Given the description of an element on the screen output the (x, y) to click on. 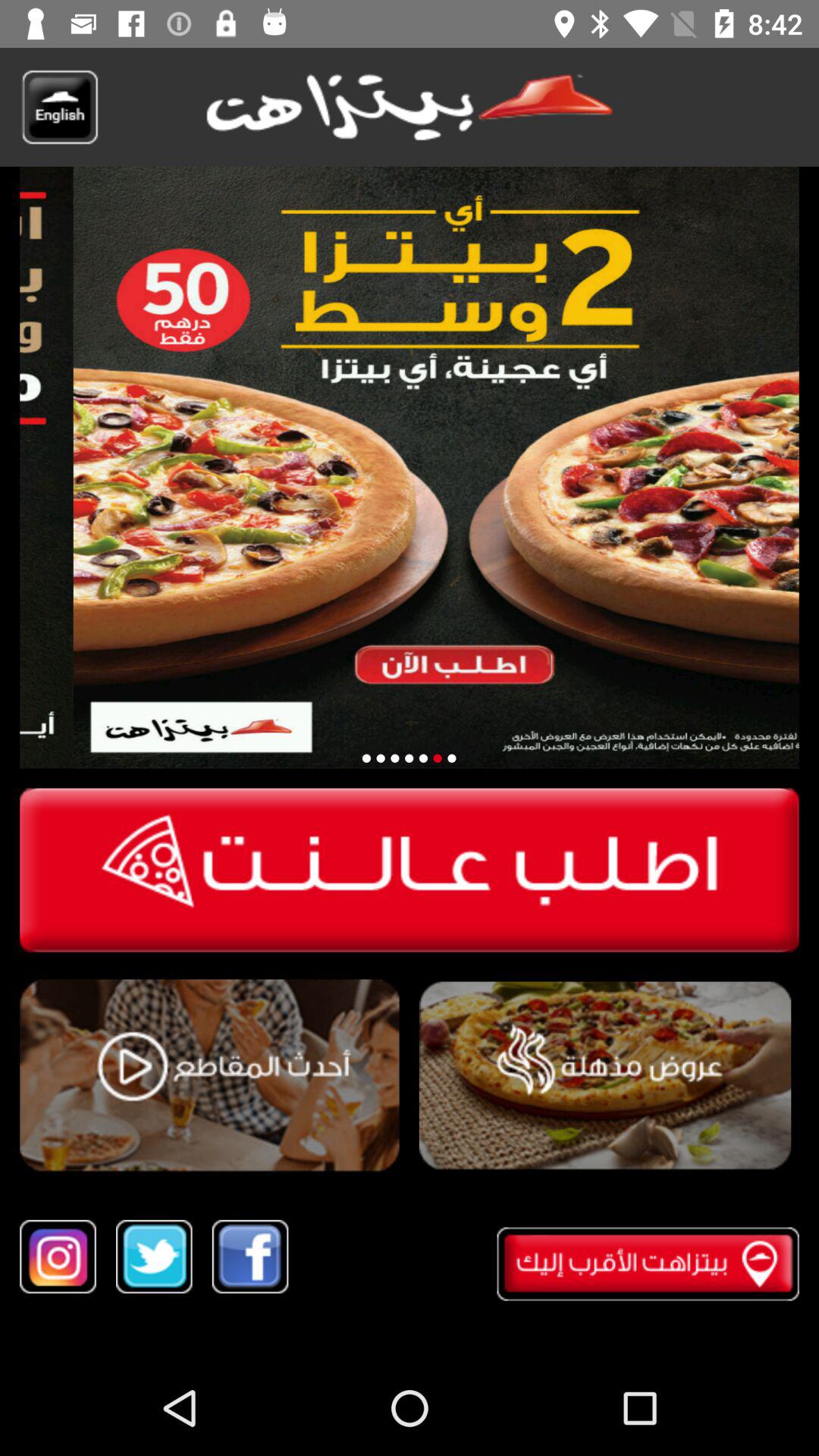
video play button (209, 1075)
